Given the description of an element on the screen output the (x, y) to click on. 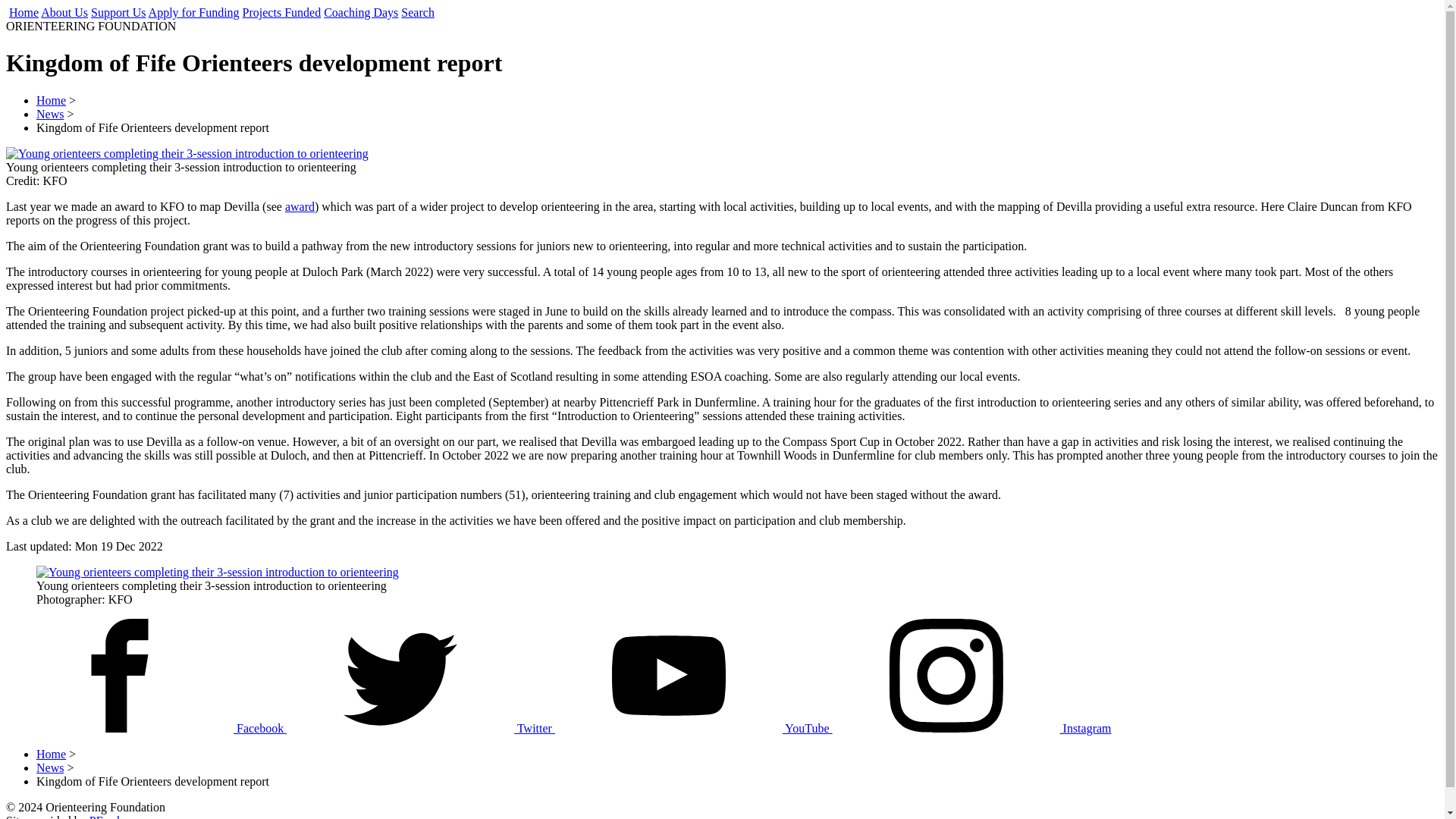
Support Us (117, 11)
 Twitter (420, 727)
Who are we (63, 11)
News (50, 767)
Watch us on YouTube (693, 727)
News (50, 113)
Coaching Days (360, 11)
Search (417, 11)
Home (50, 753)
 Facebook (145, 727)
 Instagram (972, 727)
Home (23, 11)
award (299, 205)
Apply for Funding (194, 11)
Find us on Facebook (145, 727)
